Given the description of an element on the screen output the (x, y) to click on. 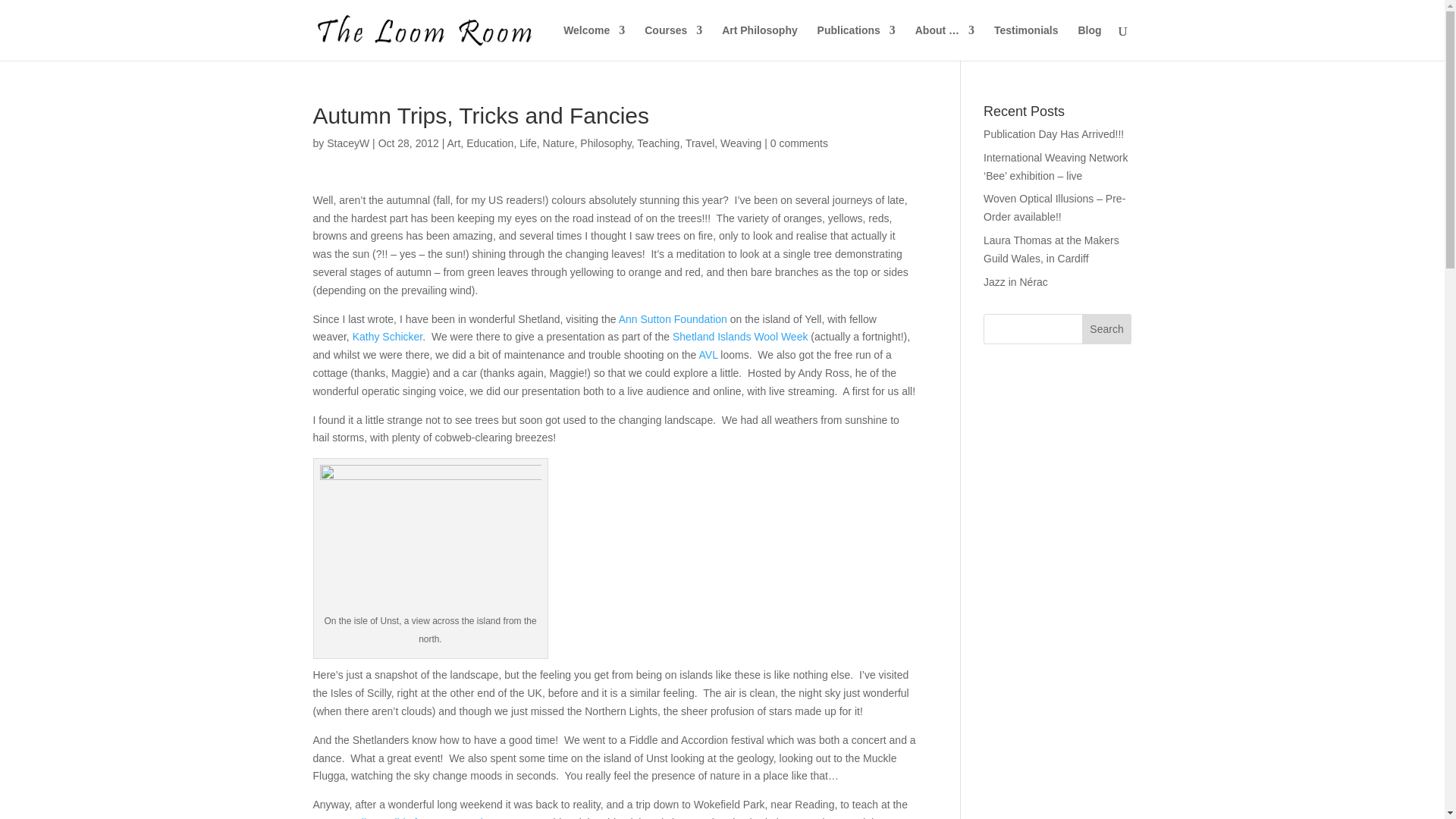
Art Philosophy (759, 42)
Ann Sutton Foundation, Shetland (672, 318)
Posts by StaceyW (347, 143)
Welcome (593, 42)
Shetland Oct 2012 156 (430, 538)
Courses (673, 42)
Search (1106, 328)
Publications (855, 42)
